Given the description of an element on the screen output the (x, y) to click on. 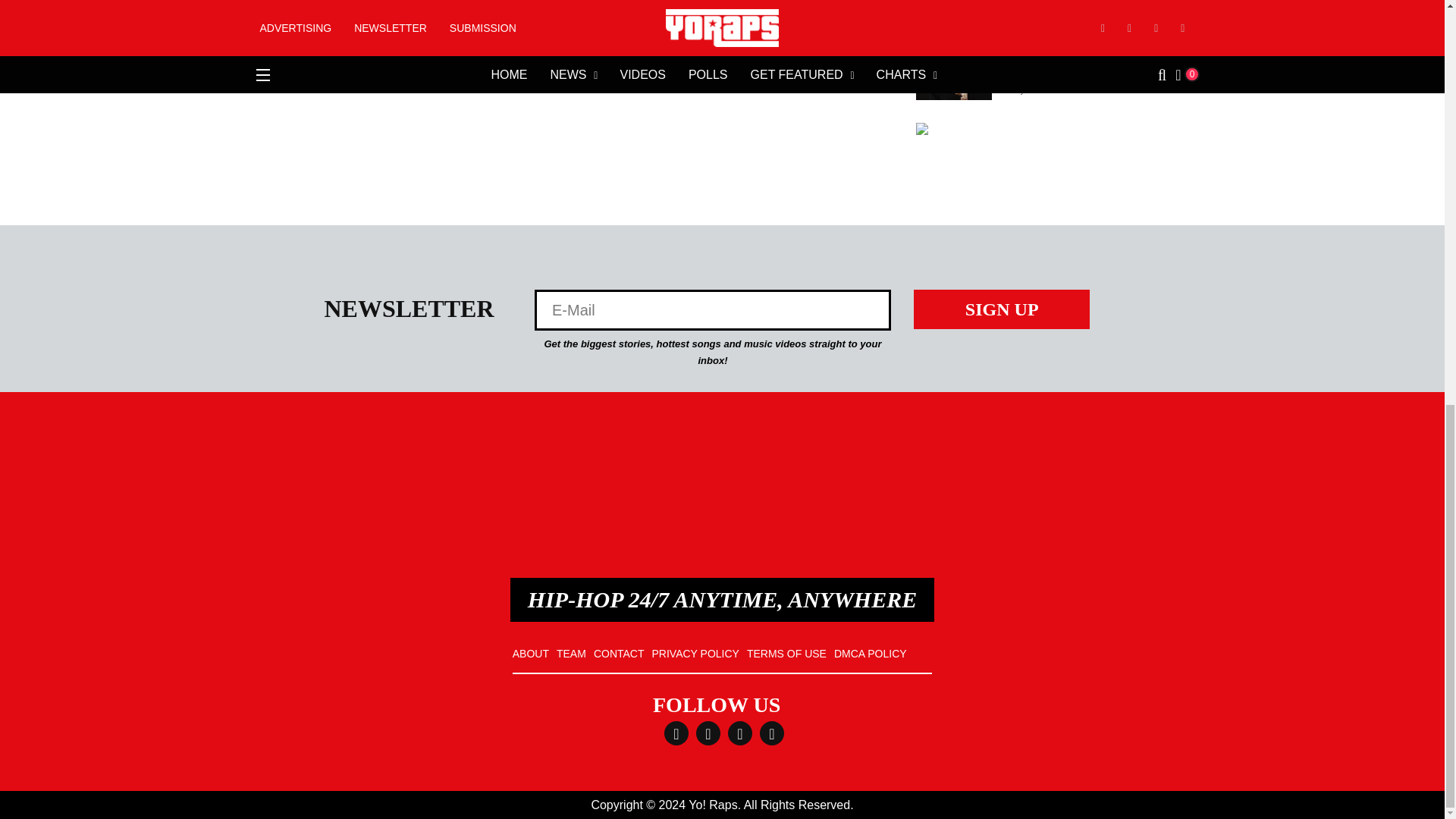
Posts by Mac Dee (1047, 89)
Posts by Mac Dee (1047, 3)
